Given the description of an element on the screen output the (x, y) to click on. 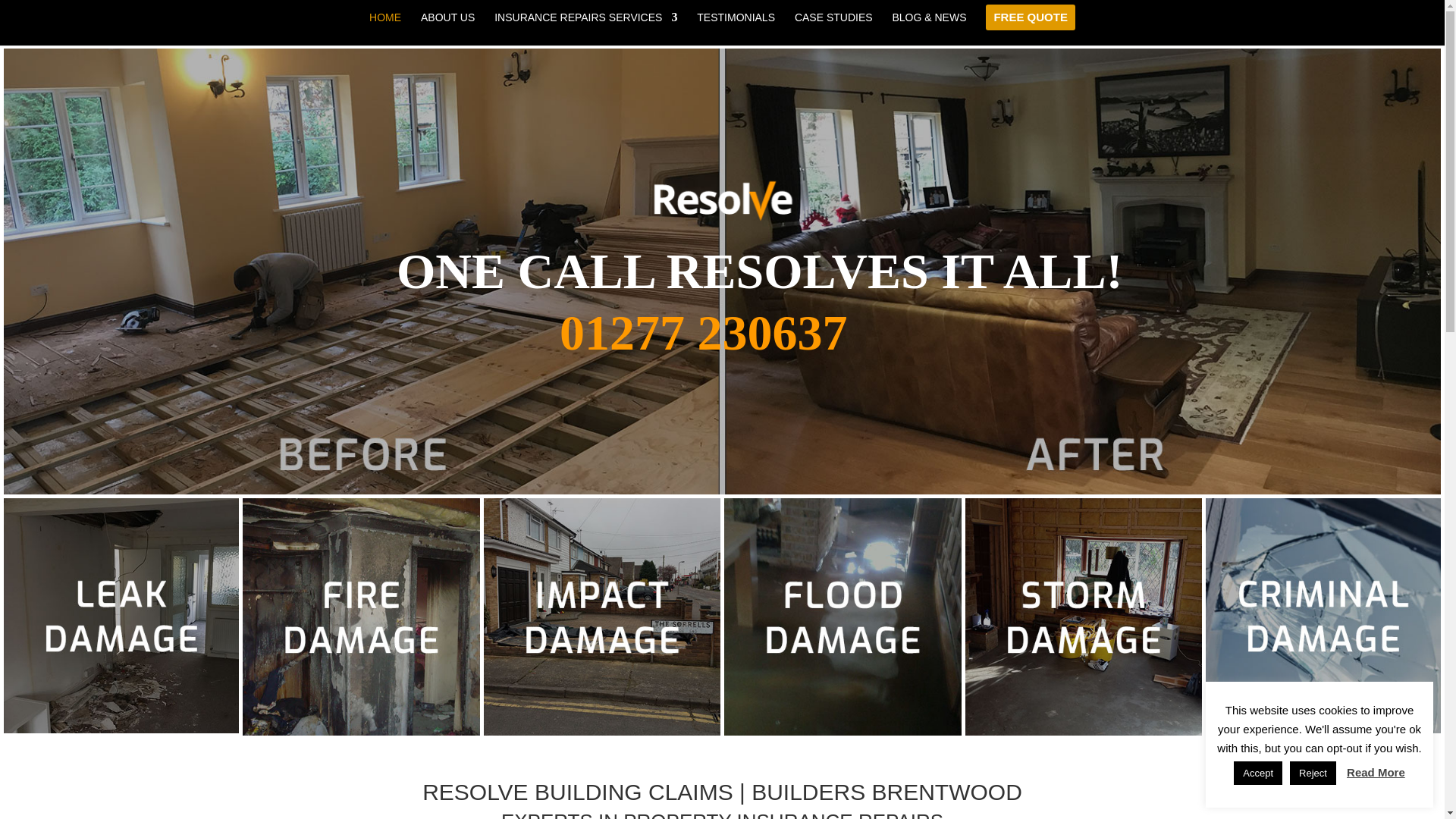
ABOUT US (447, 28)
INSURANCE REPAIRS SERVICES (586, 28)
Accept (1257, 772)
FREE QUOTE (1029, 24)
TESTIMONIALS (735, 28)
HOME (385, 28)
CASE STUDIES (833, 28)
